Given the description of an element on the screen output the (x, y) to click on. 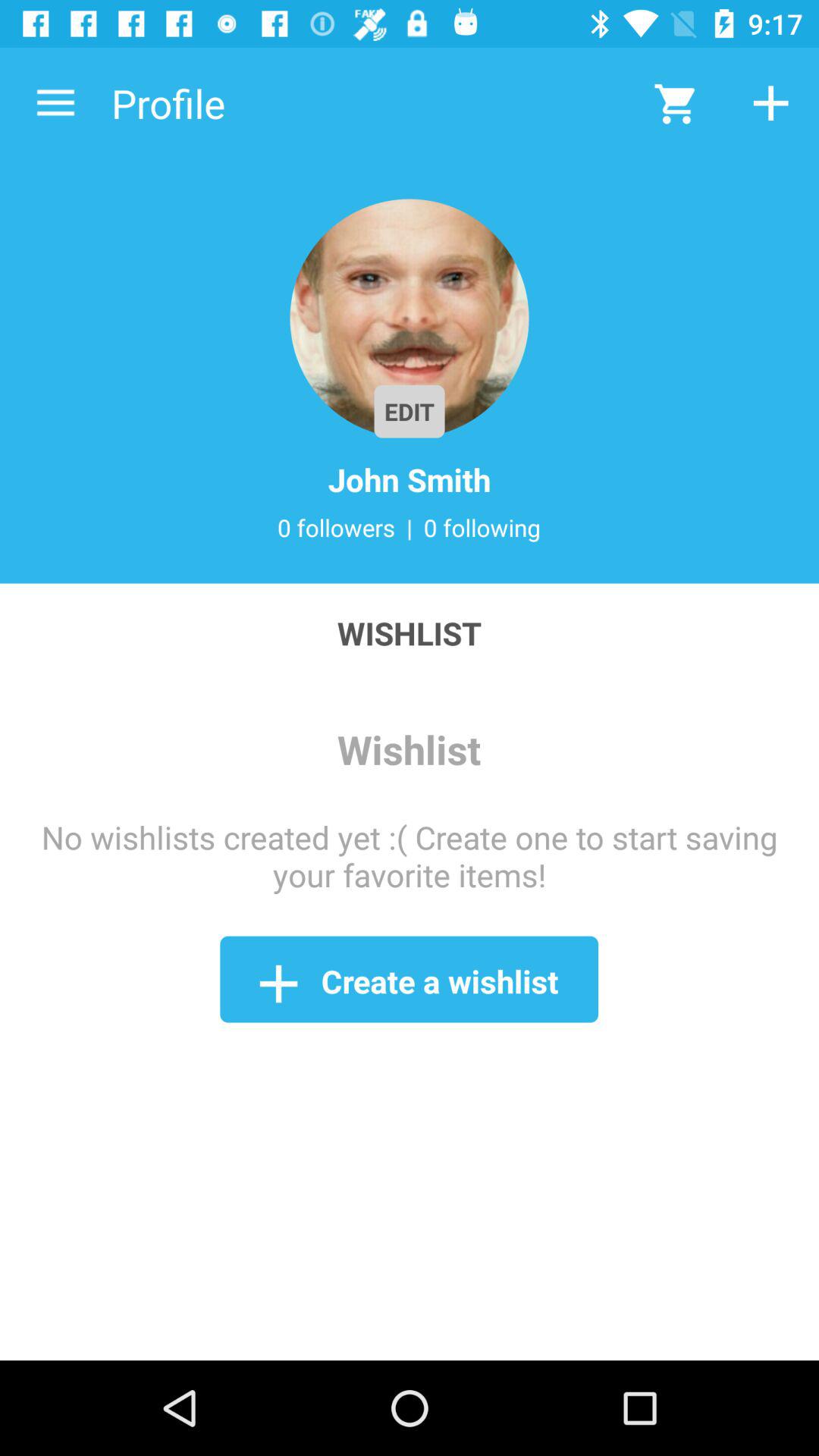
select the 0 followers (336, 527)
